Given the description of an element on the screen output the (x, y) to click on. 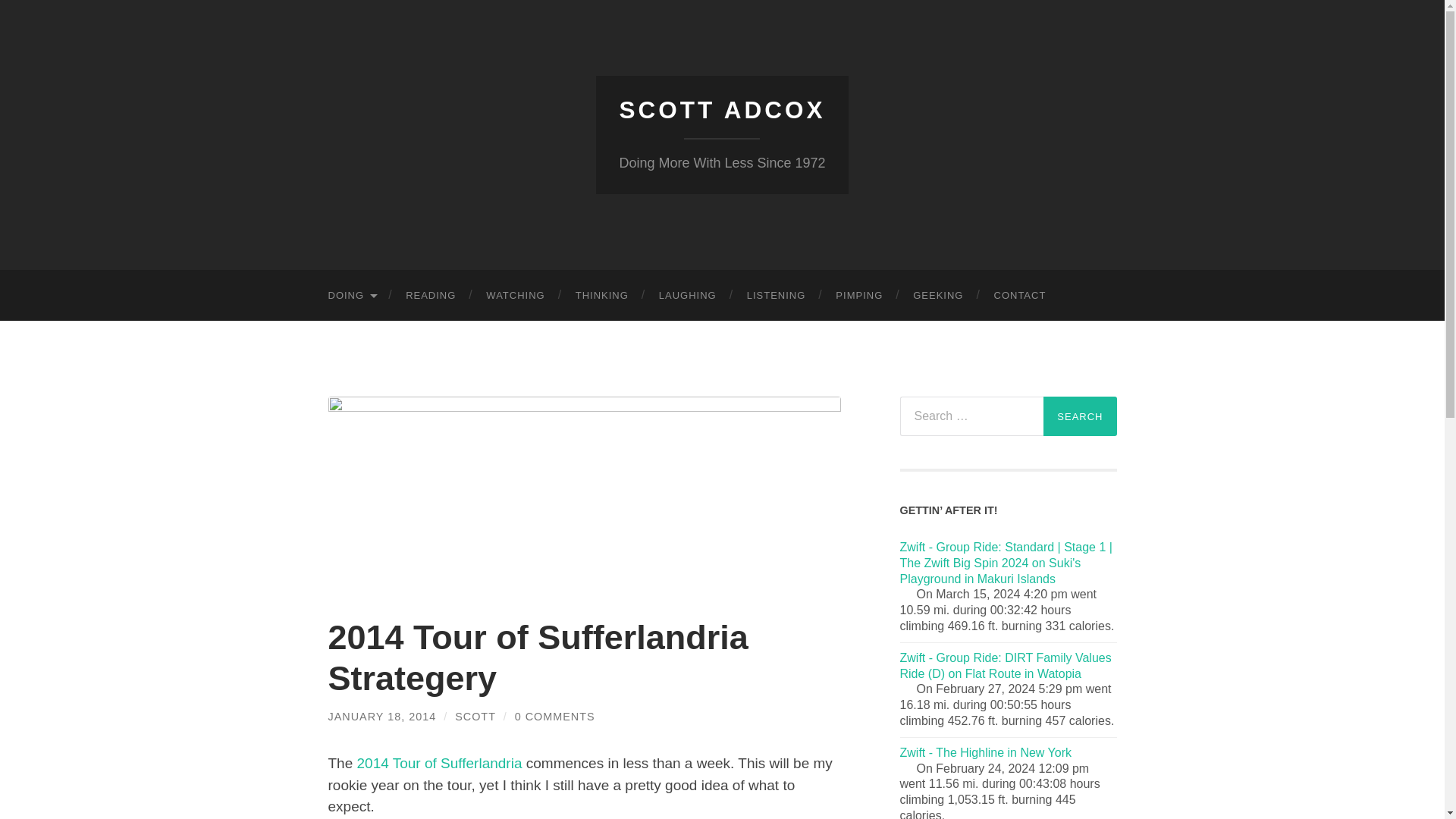
PIMPING (859, 295)
SCOTT ADCOX (721, 109)
THINKING (601, 295)
LISTENING (776, 295)
Search (1079, 415)
WATCHING (514, 295)
2014 Tour of Sufferlandria (439, 763)
0 COMMENTS (555, 716)
DOING (351, 295)
Search (1079, 415)
